Given the description of an element on the screen output the (x, y) to click on. 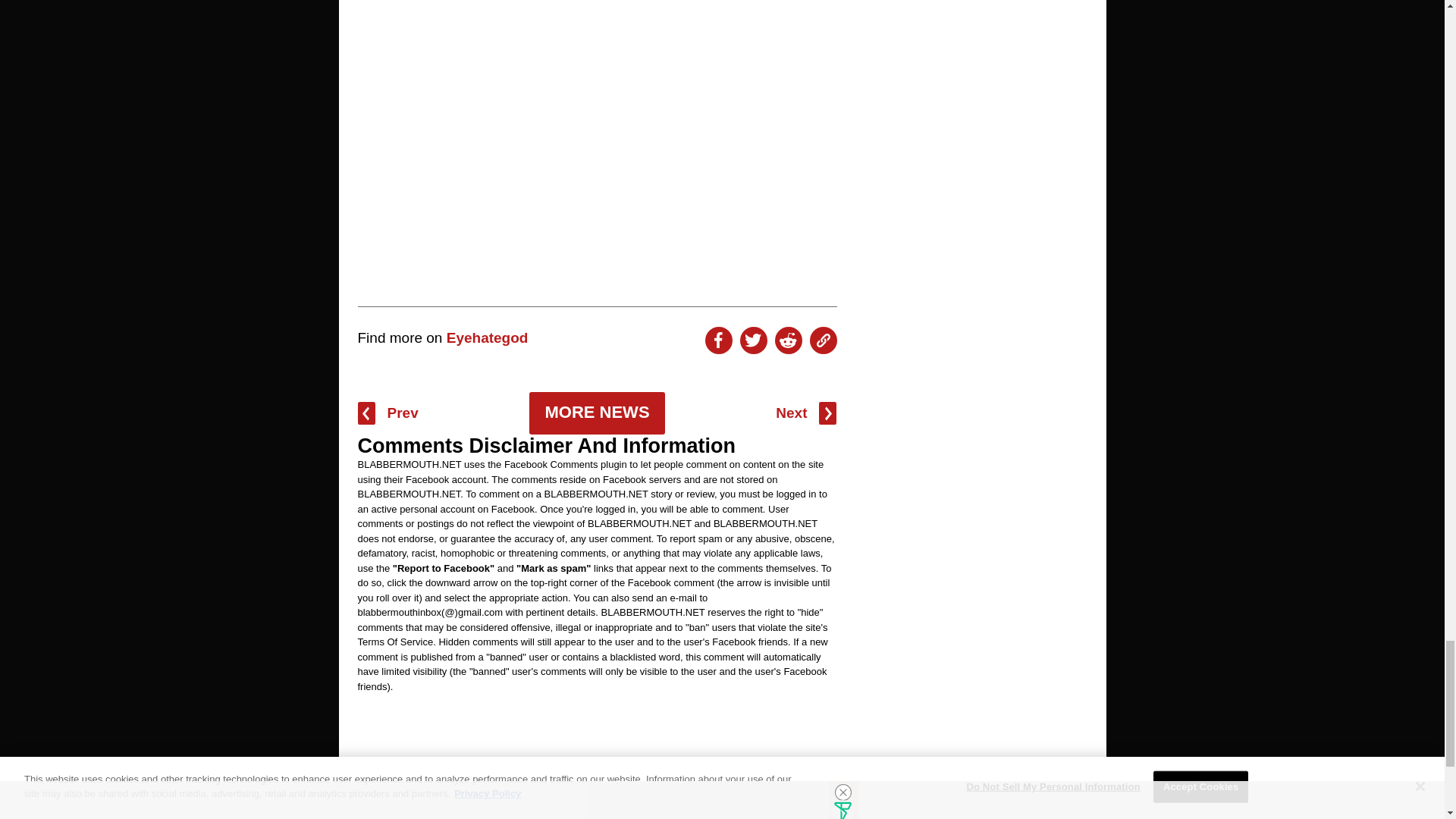
Copy To Clipboard (823, 339)
Share On Facebook (718, 339)
Share On Reddit (788, 339)
Prev (388, 413)
Eyehategod (487, 337)
MORE NEWS (596, 413)
Next (805, 413)
Share On Twitter (753, 339)
